Given the description of an element on the screen output the (x, y) to click on. 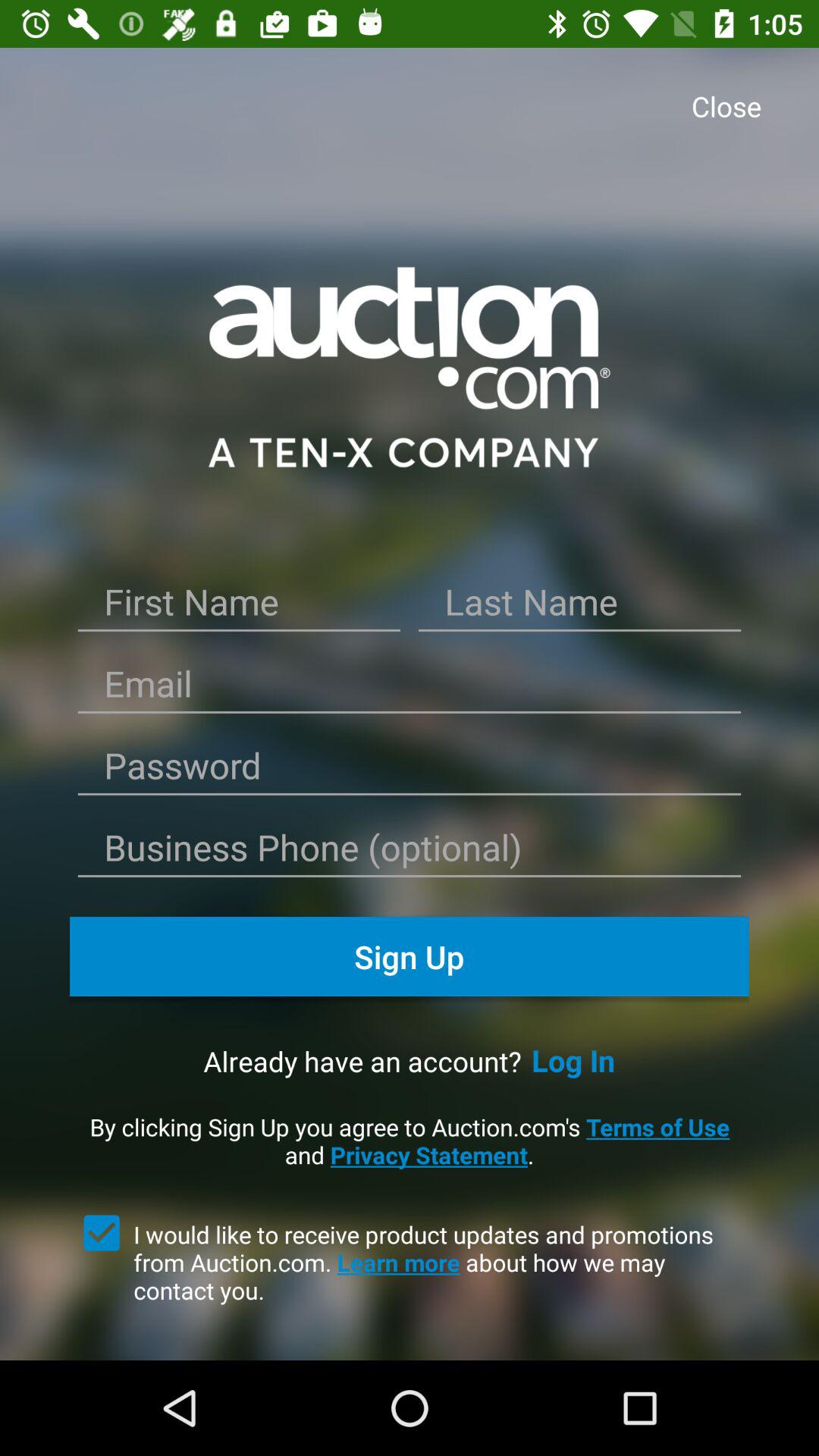
enter last name (579, 607)
